Given the description of an element on the screen output the (x, y) to click on. 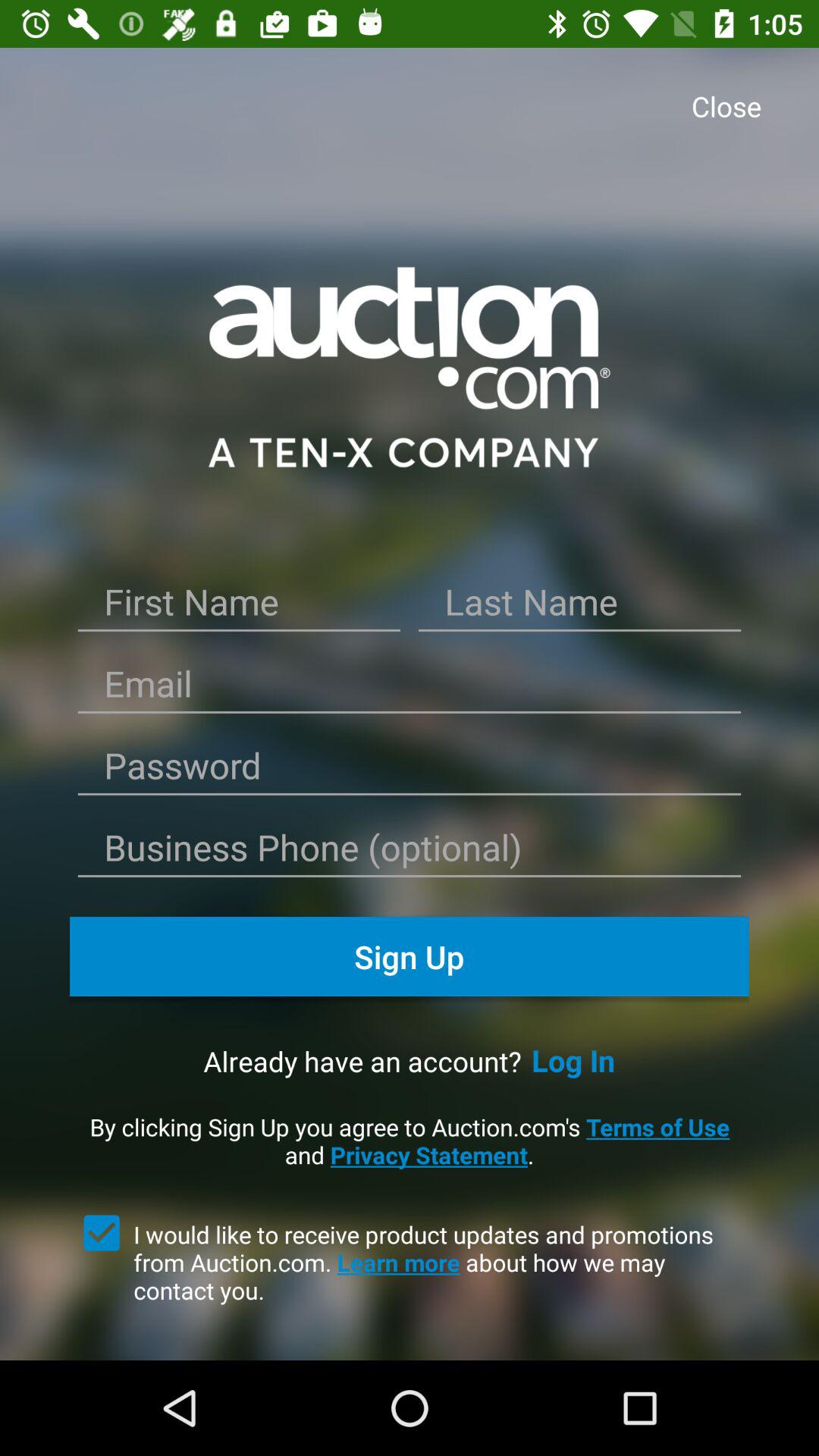
enter last name (579, 607)
